Given the description of an element on the screen output the (x, y) to click on. 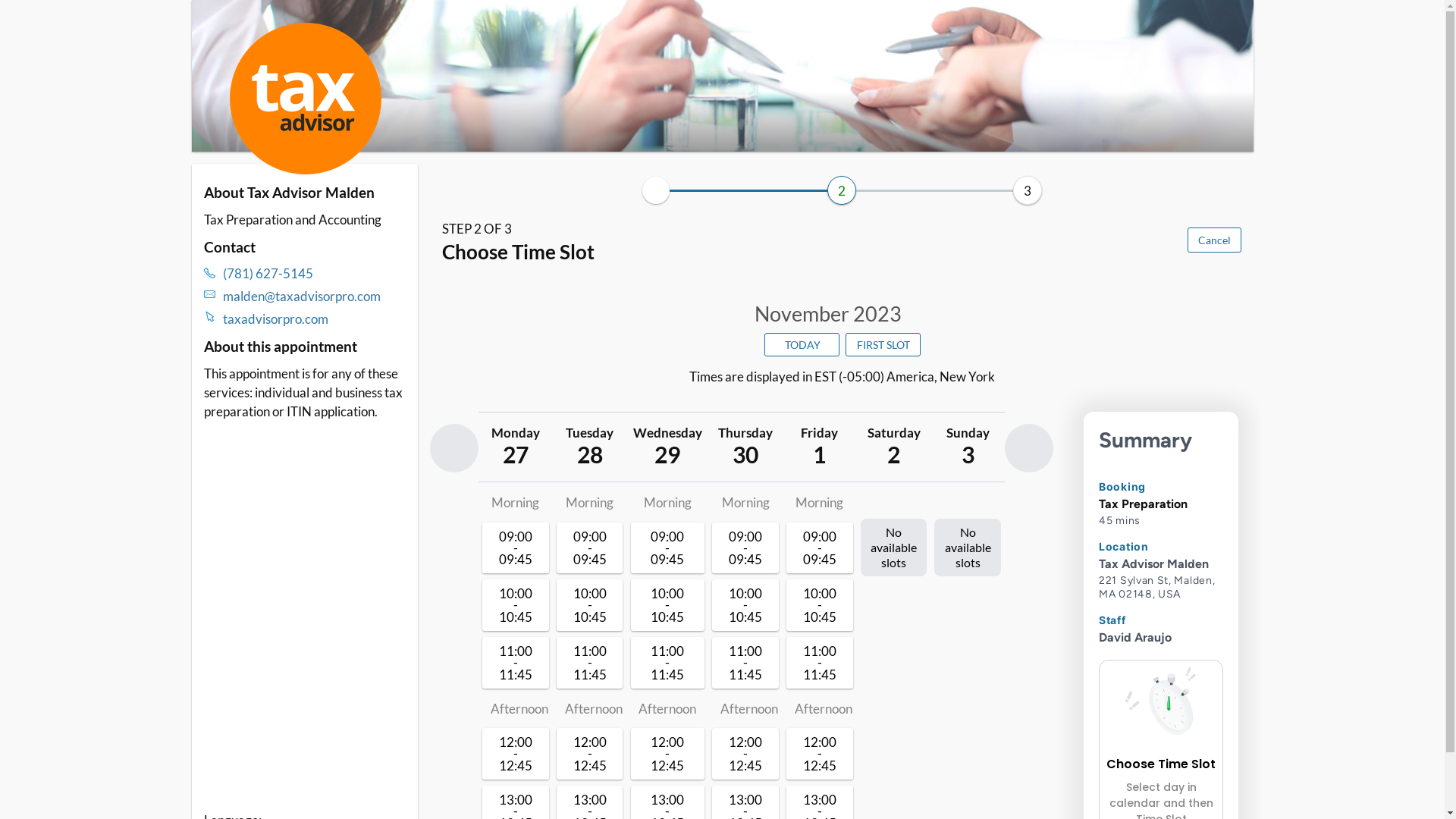
(781) 627-5145 Element type: text (314, 272)
Skip to booking section Element type: text (280, 23)
taxadvisorpro.com Element type: text (314, 318)
malden@taxadvisorpro.com Element type: text (314, 295)
